Given the description of an element on the screen output the (x, y) to click on. 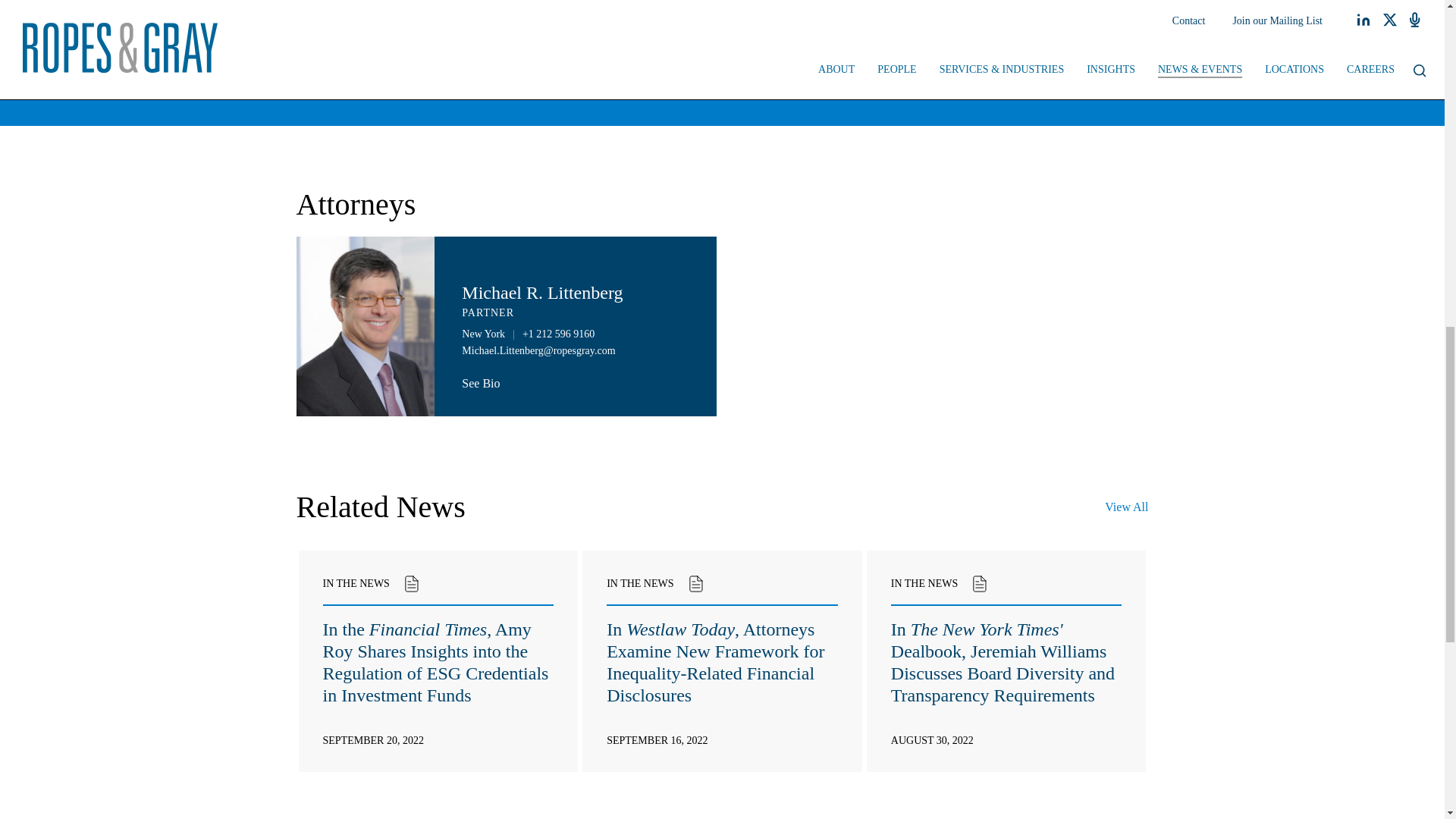
Michael R. Littenberg (542, 292)
RISK MANAGEMENT (626, 11)
